Given the description of an element on the screen output the (x, y) to click on. 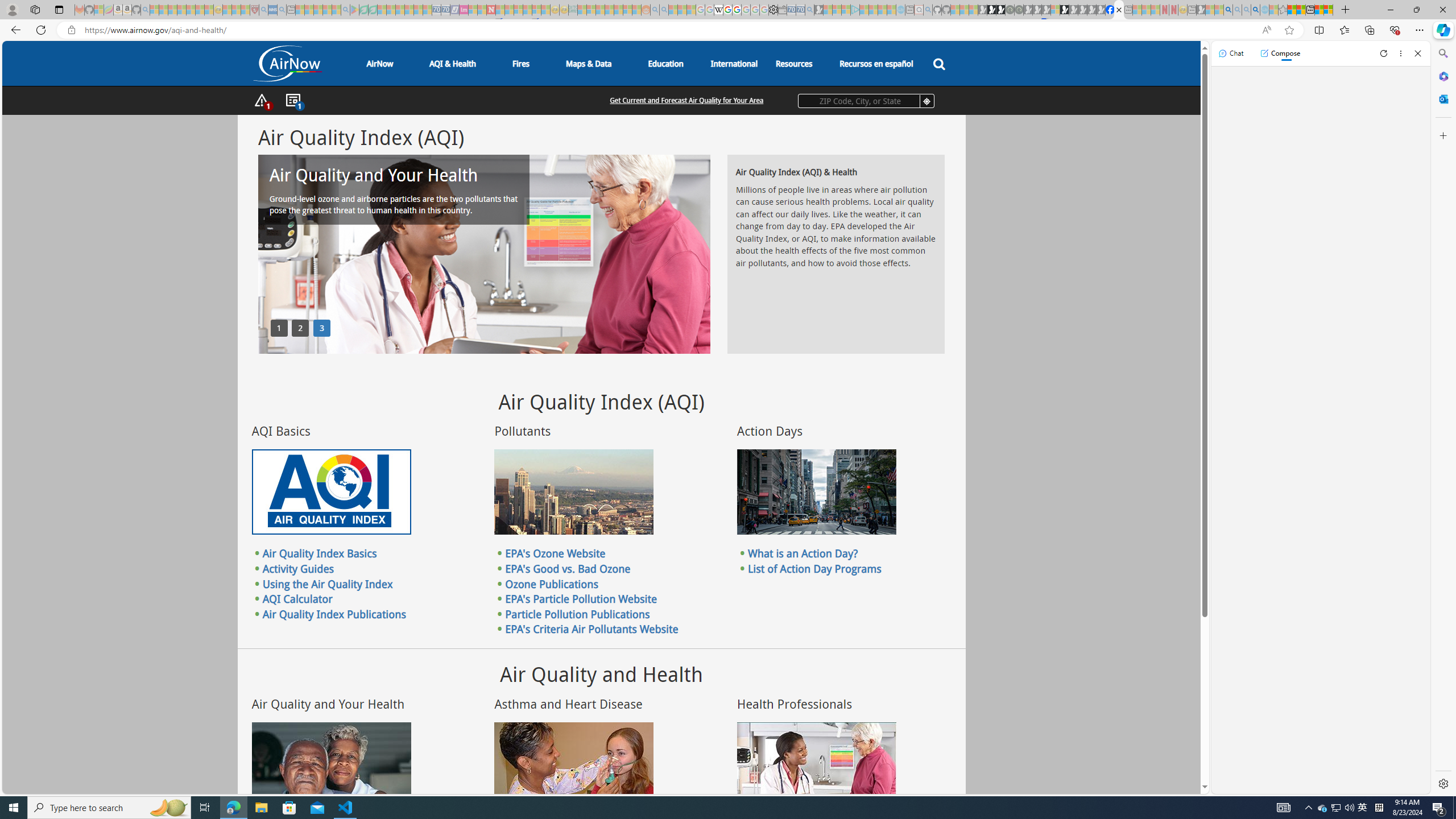
MSNBC - MSN - Sleeping (581, 9)
Pollutants (573, 491)
AQI logo (330, 491)
EPA's Ozone Website (555, 553)
